Given the description of an element on the screen output the (x, y) to click on. 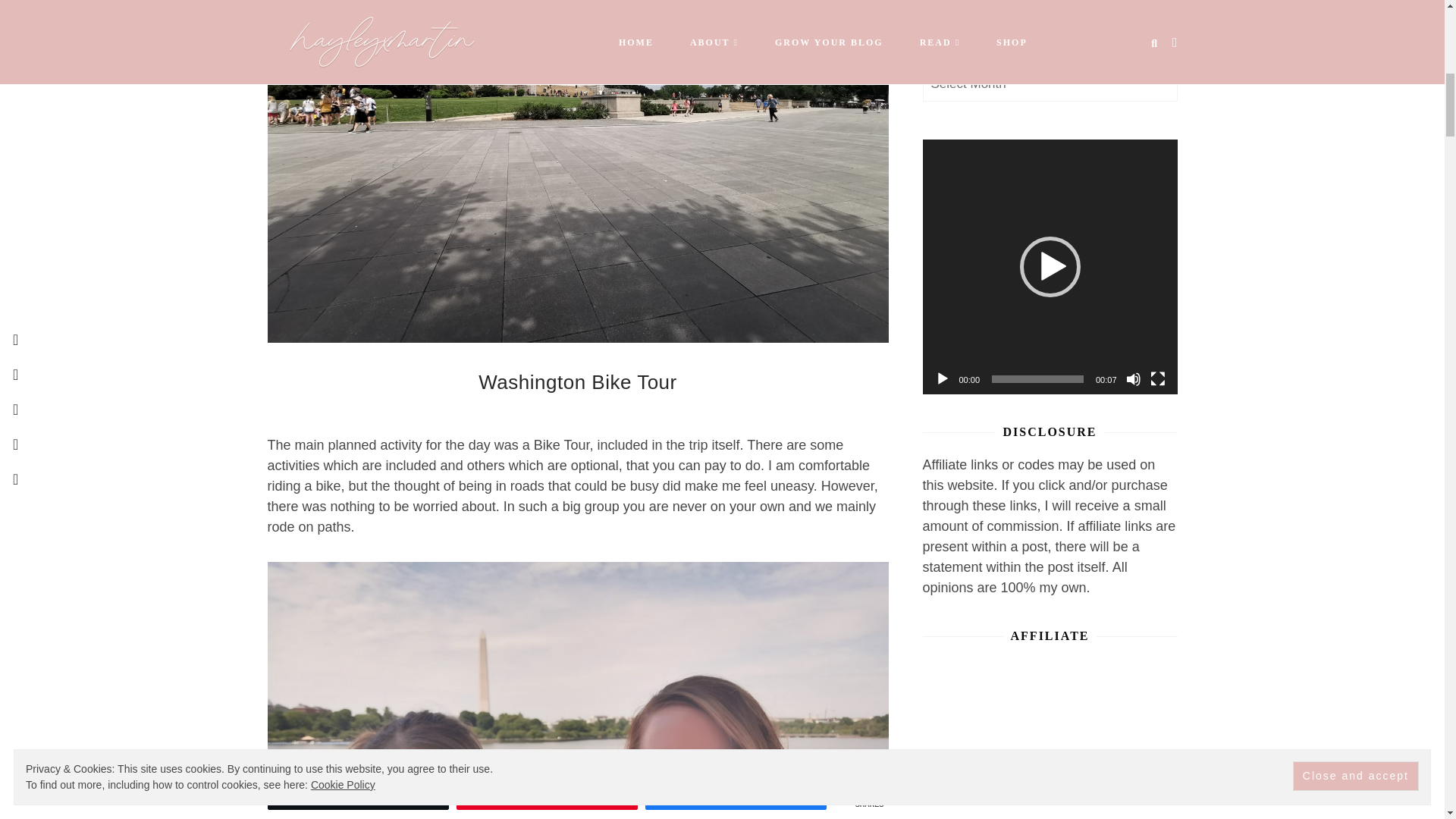
Mute (1132, 378)
Fullscreen (1157, 378)
Play (941, 378)
AFFILIATE (1048, 730)
